Given the description of an element on the screen output the (x, y) to click on. 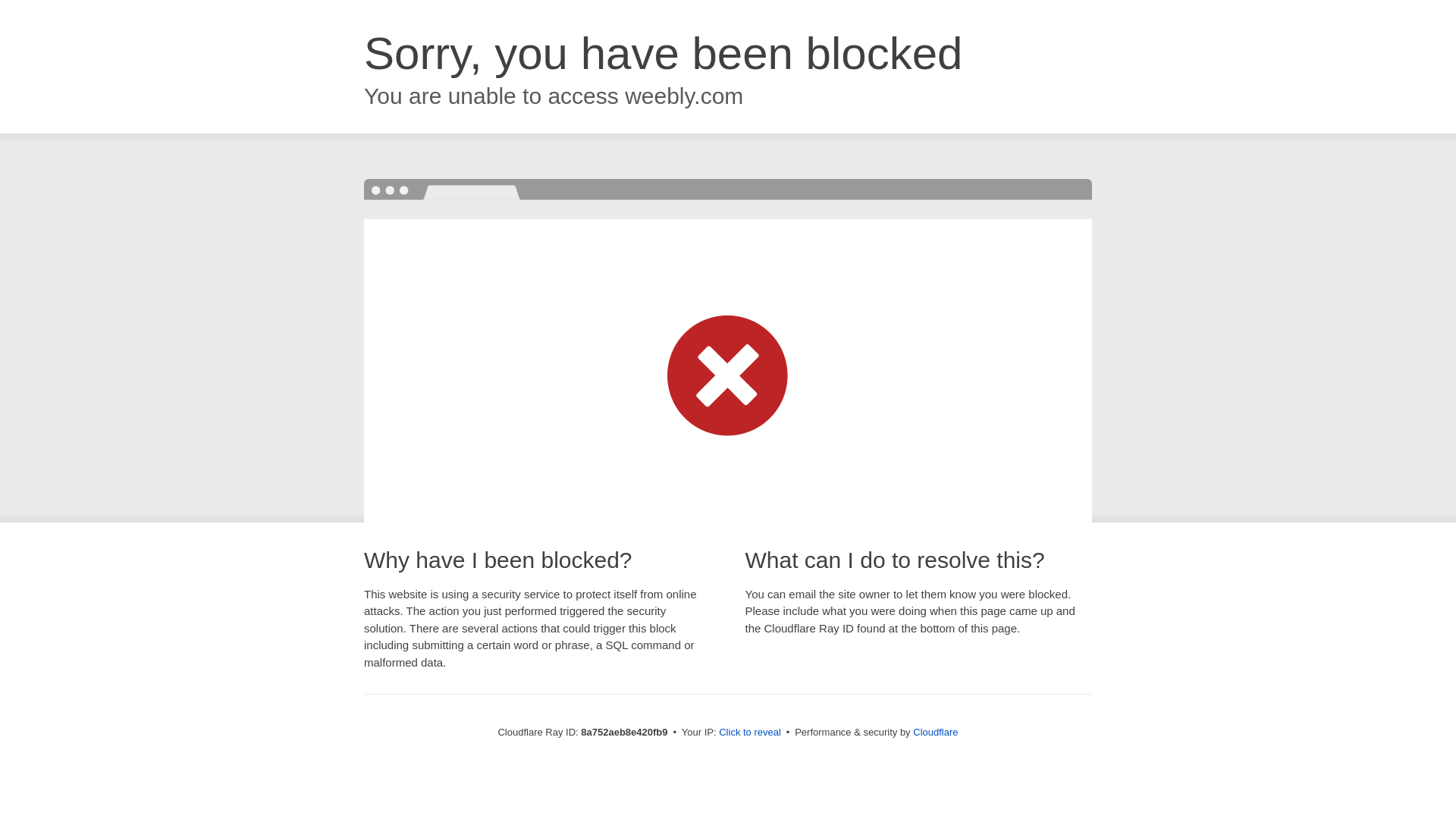
Click to reveal (749, 732)
Cloudflare (935, 731)
